Given the description of an element on the screen output the (x, y) to click on. 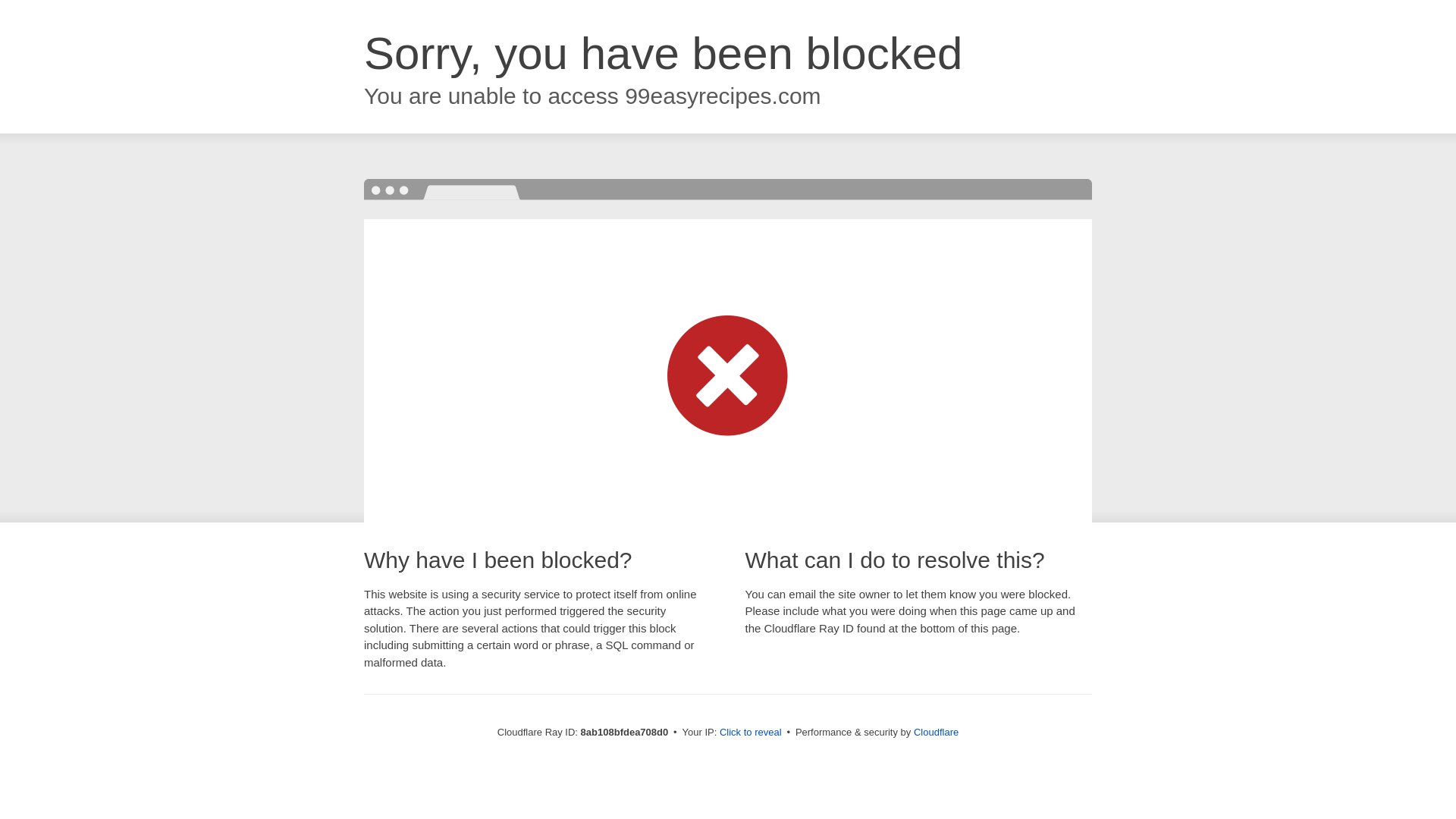
Cloudflare (936, 731)
Click to reveal (750, 732)
